Given the description of an element on the screen output the (x, y) to click on. 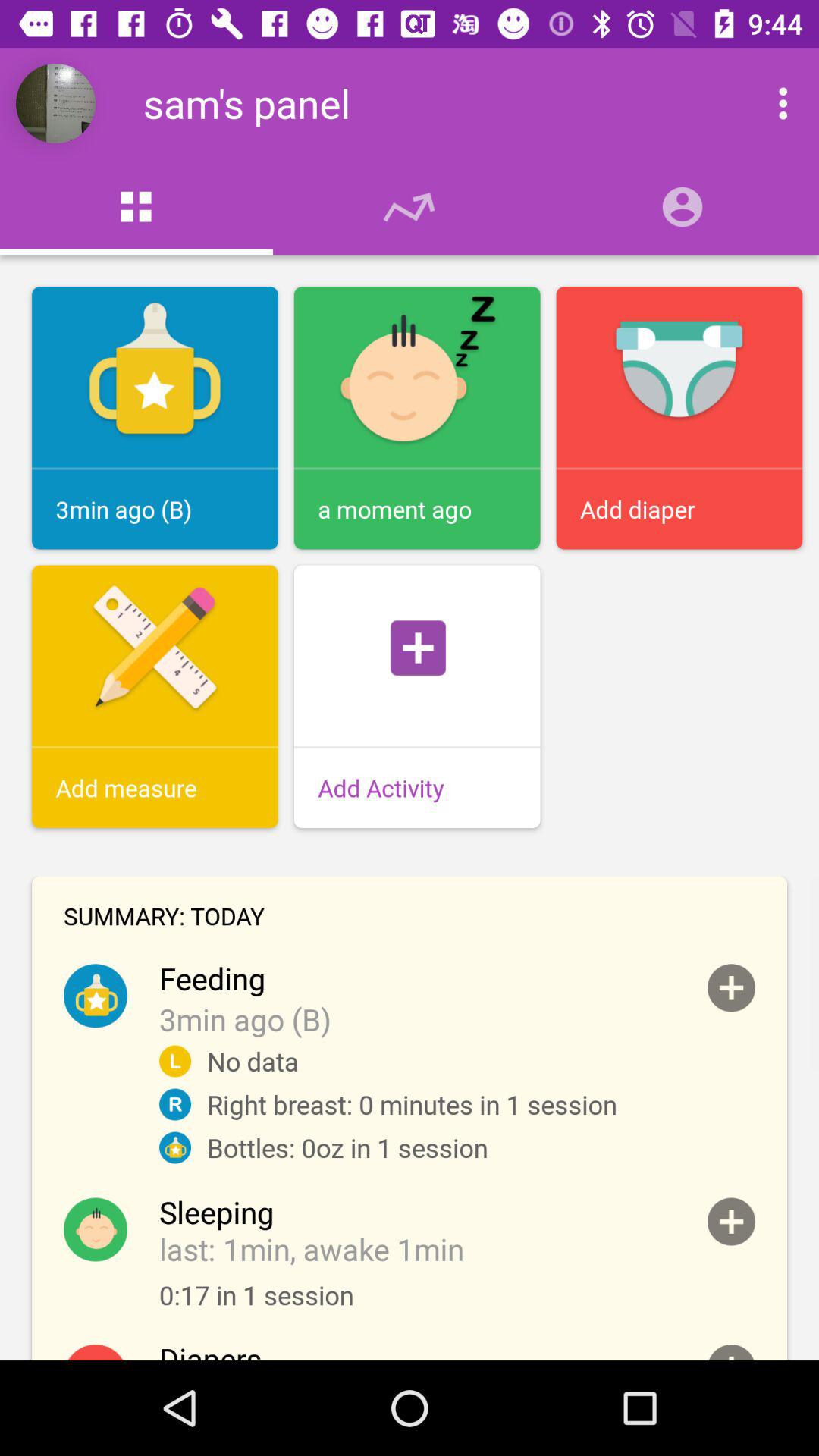
collapse/expand item (731, 1352)
